Given the description of an element on the screen output the (x, y) to click on. 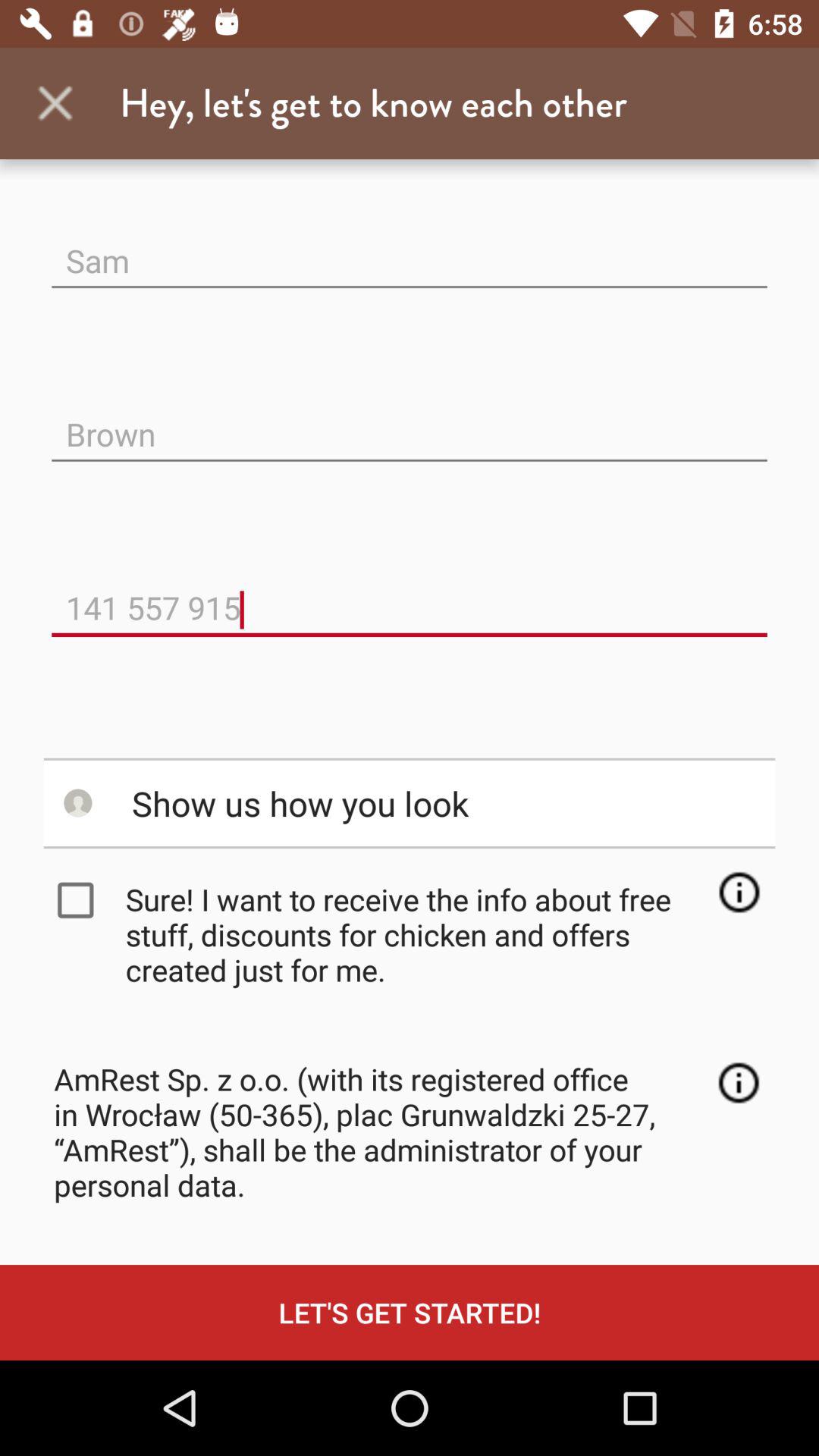
company information (738, 1082)
